Given the description of an element on the screen output the (x, y) to click on. 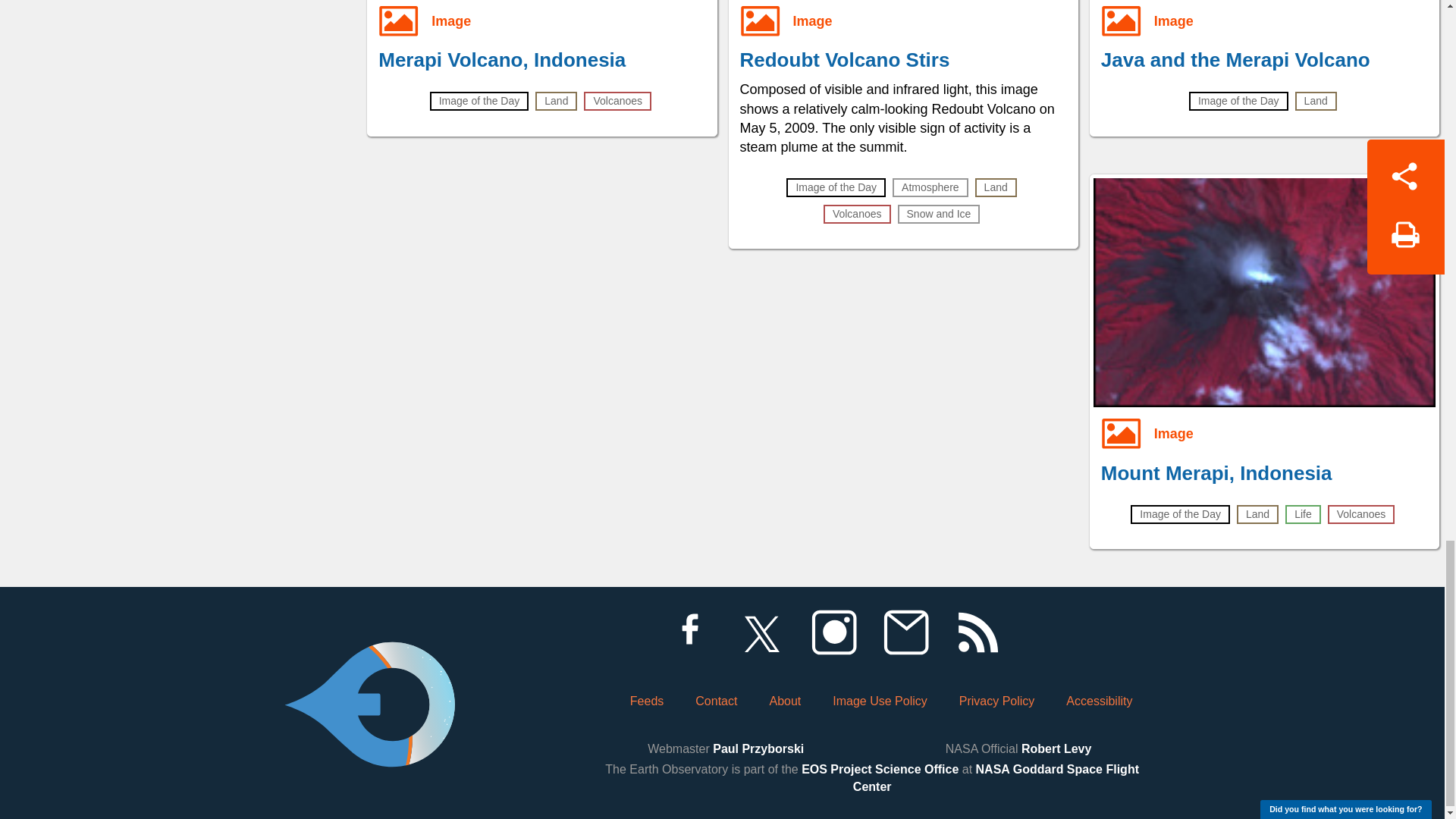
Twitter (761, 632)
Earth Observatory (369, 662)
RSS (977, 632)
Subscribe (905, 632)
Instagram (833, 632)
Facebook (689, 632)
